Given the description of an element on the screen output the (x, y) to click on. 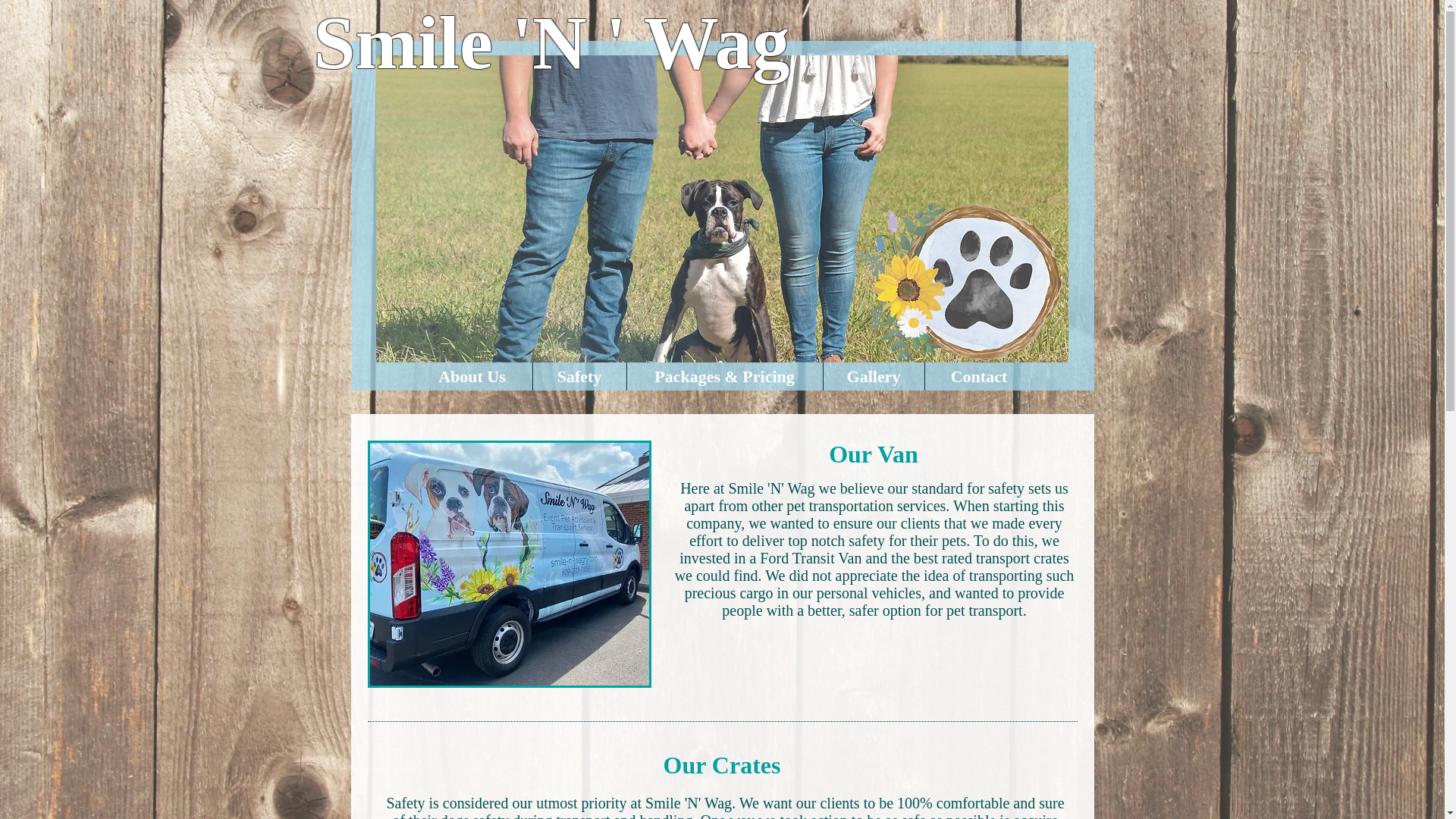
Contact (978, 376)
Gallery (874, 376)
About Us (472, 376)
Safety (579, 376)
